Given the description of an element on the screen output the (x, y) to click on. 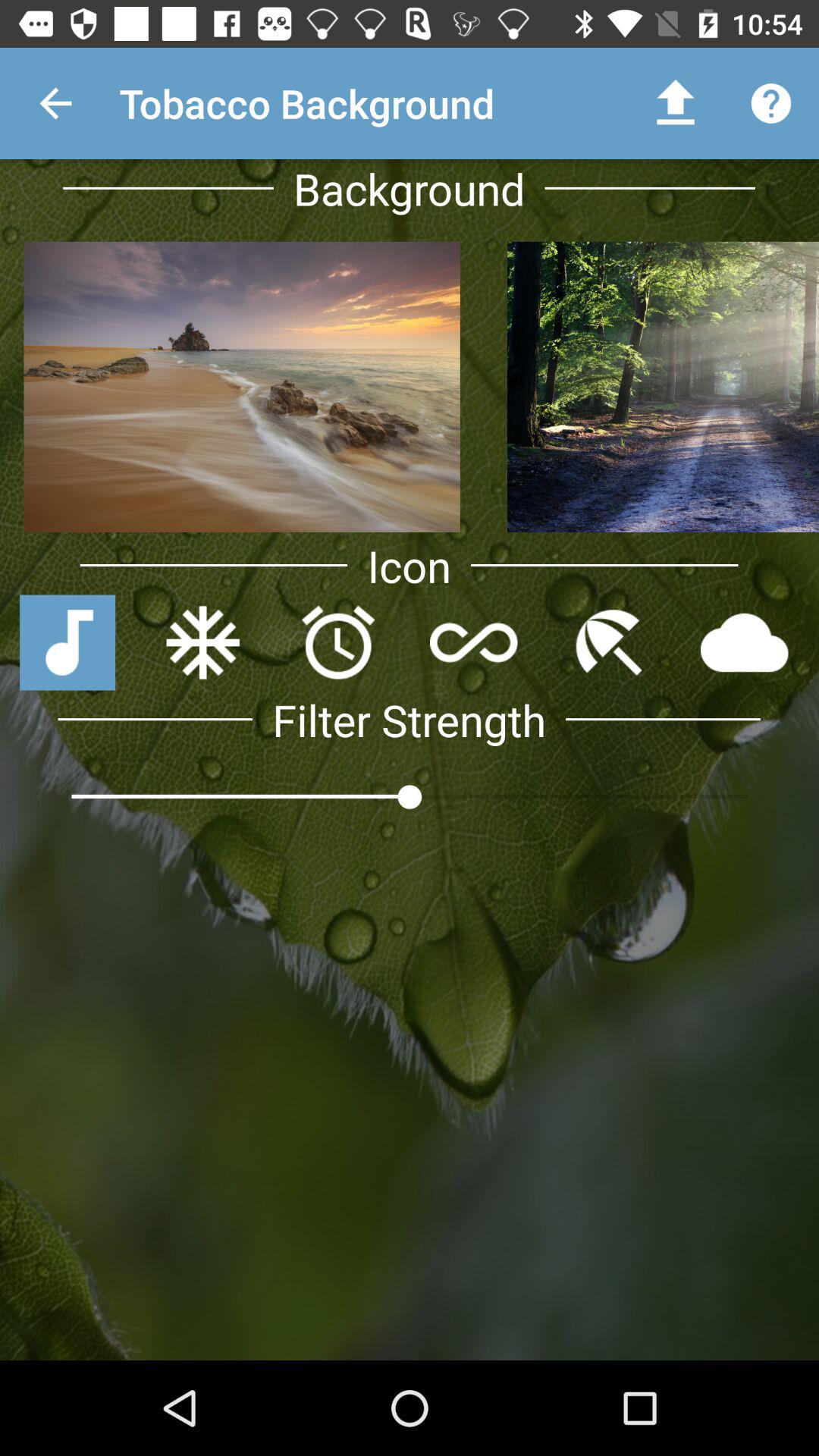
choose the icon to the right of background item (675, 103)
